Given the description of an element on the screen output the (x, y) to click on. 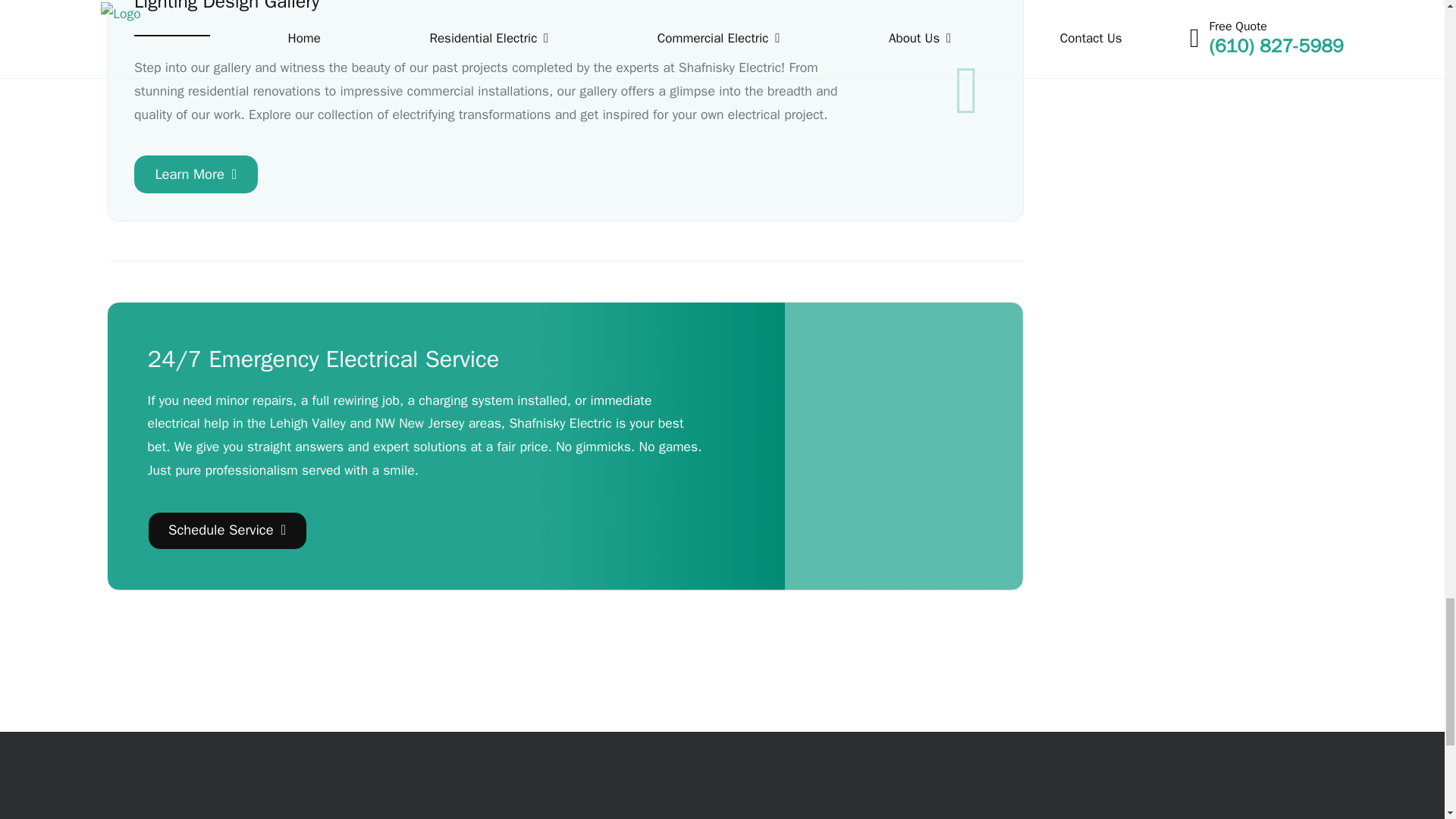
Shafnisky Electric, Inc. (898, 481)
